Given the description of an element on the screen output the (x, y) to click on. 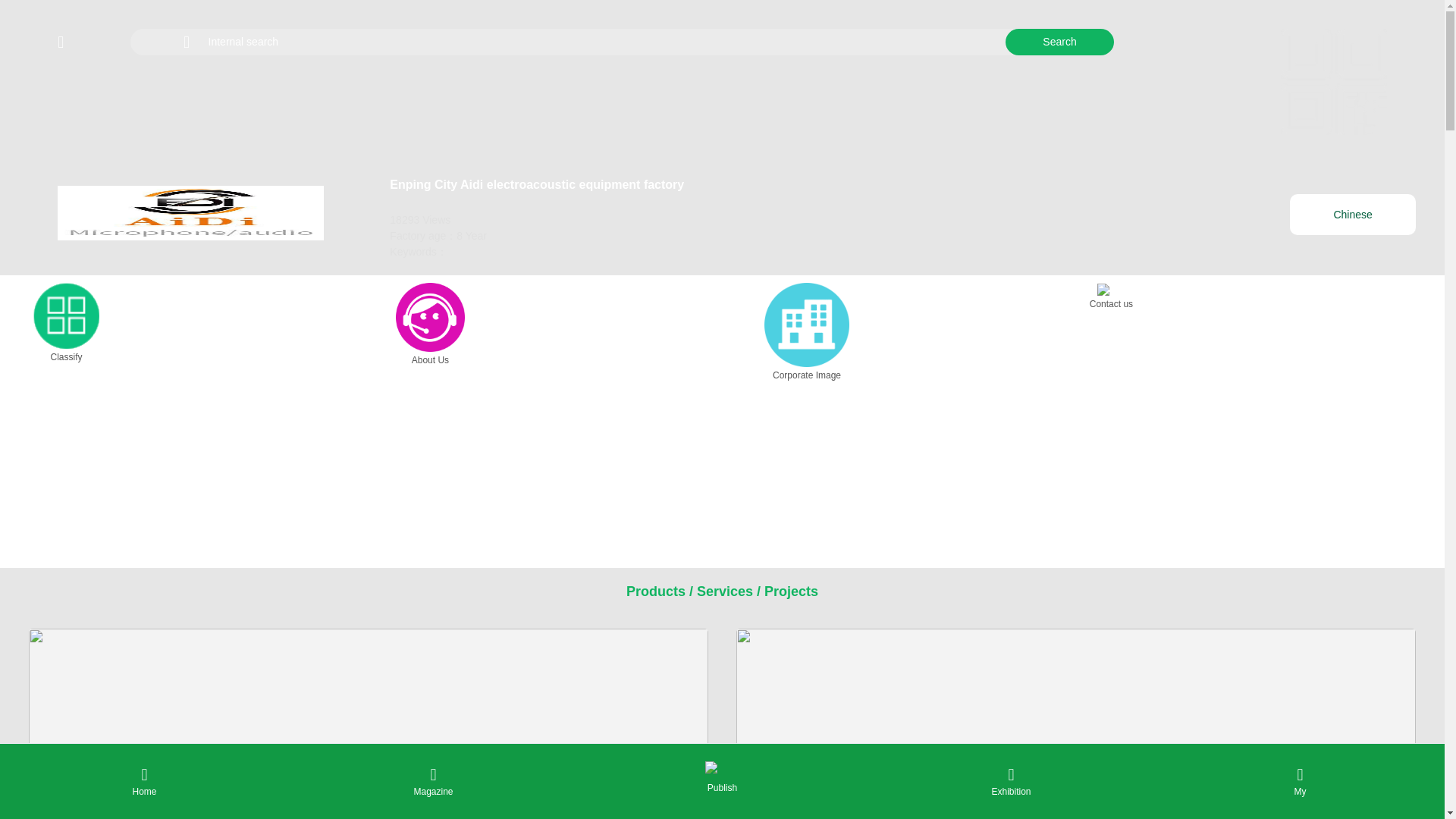
Corporate Image (806, 334)
Search (1059, 41)
About Us (430, 326)
Classify (66, 325)
Contact us (1110, 297)
